Given the description of an element on the screen output the (x, y) to click on. 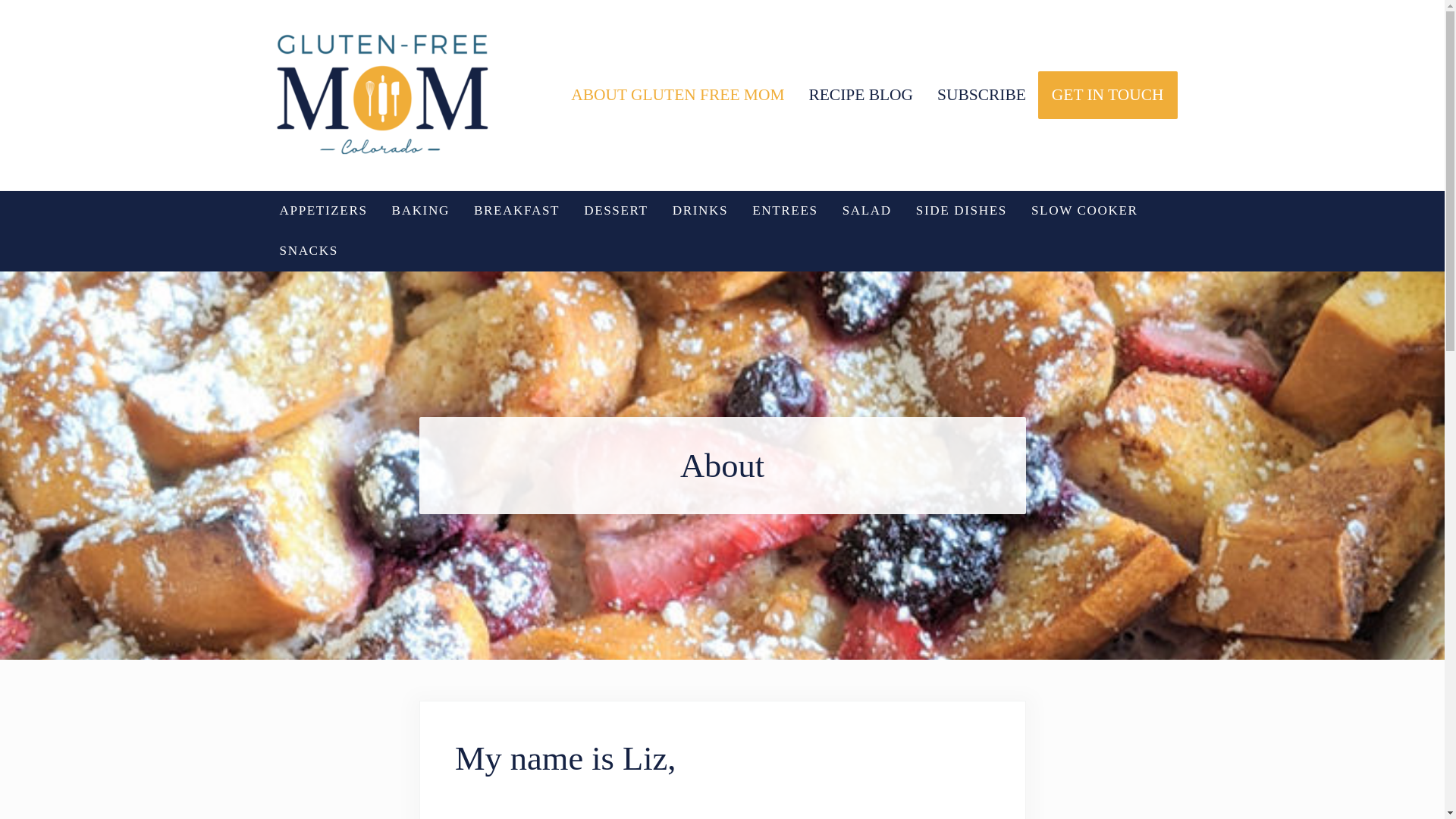
SIDE DISHES (961, 210)
GET IN TOUCH (1107, 94)
BREAKFAST (516, 210)
RECIPE BLOG (860, 94)
SNACKS (307, 250)
SUBSCRIBE (981, 94)
APPETIZERS (322, 210)
DESSERT (616, 210)
SALAD (866, 210)
BAKING (420, 210)
DRINKS (700, 210)
SLOW COOKER (1084, 210)
ENTREES (784, 210)
ABOUT GLUTEN FREE MOM (677, 94)
